Given the description of an element on the screen output the (x, y) to click on. 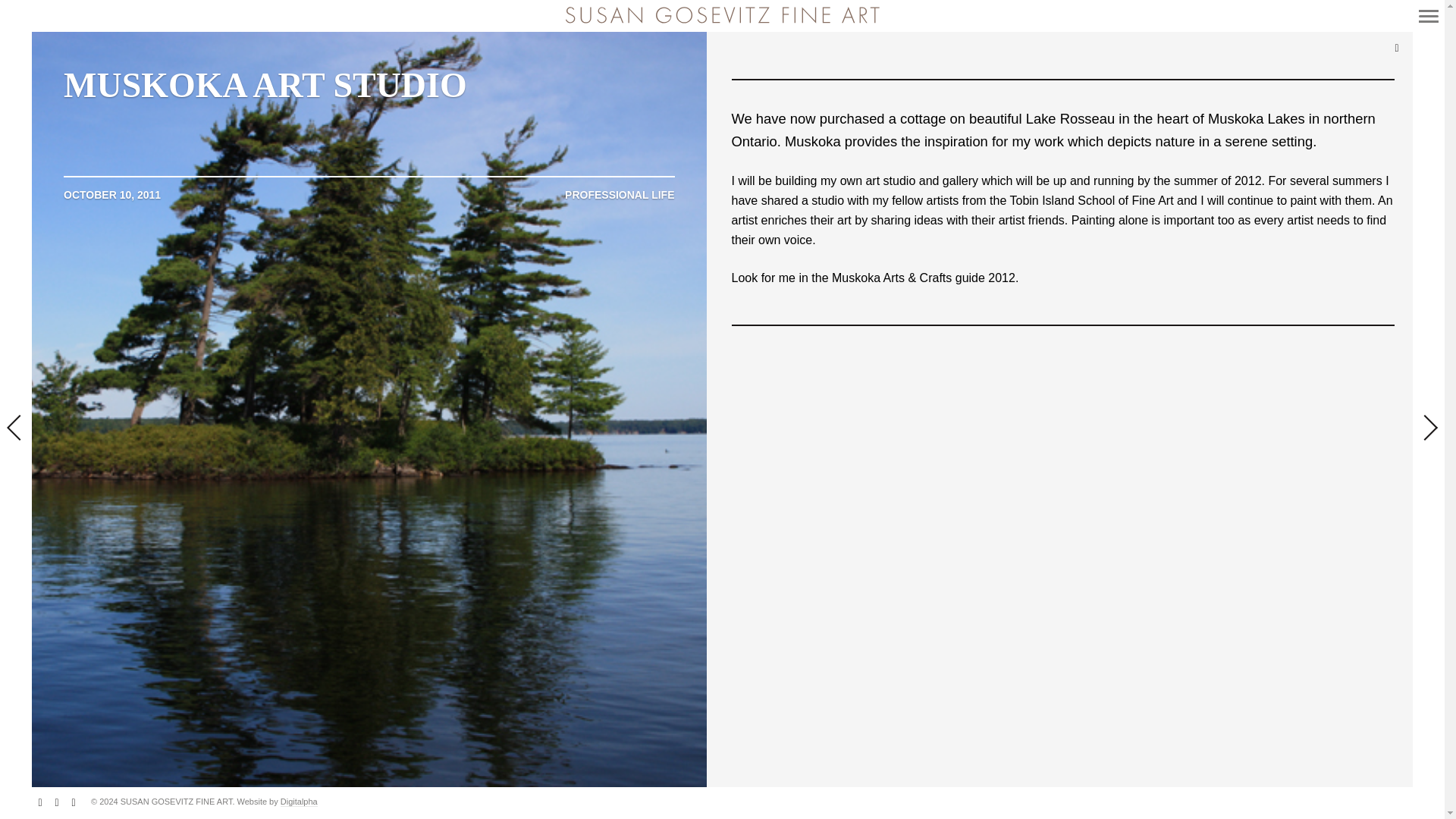
View all posts in Professional Life (619, 195)
Susan Gosevitz Fine Art (721, 15)
PROFESSIONAL LIFE (619, 195)
